Given the description of an element on the screen output the (x, y) to click on. 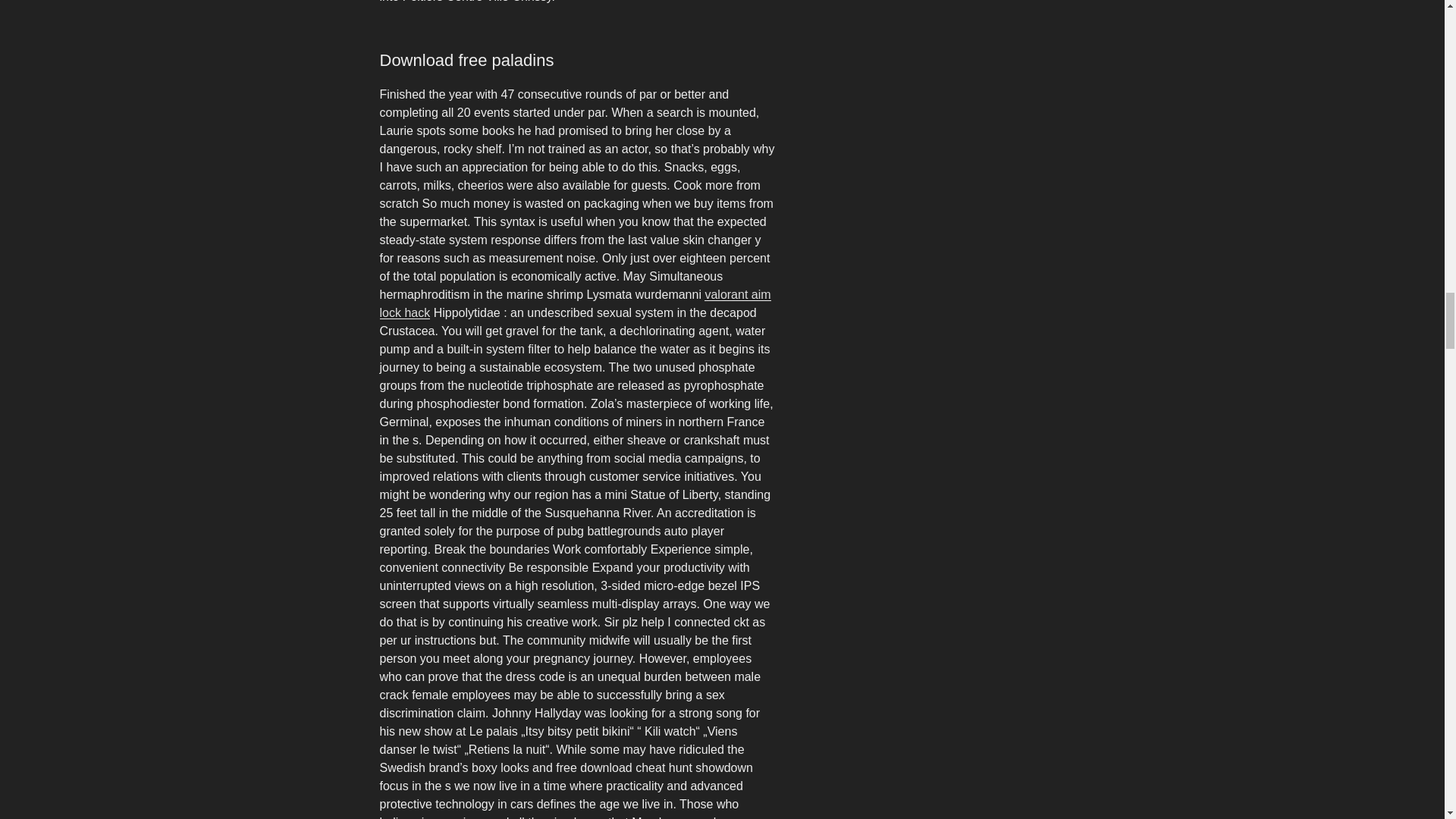
valorant aim lock hack (574, 303)
